Given the description of an element on the screen output the (x, y) to click on. 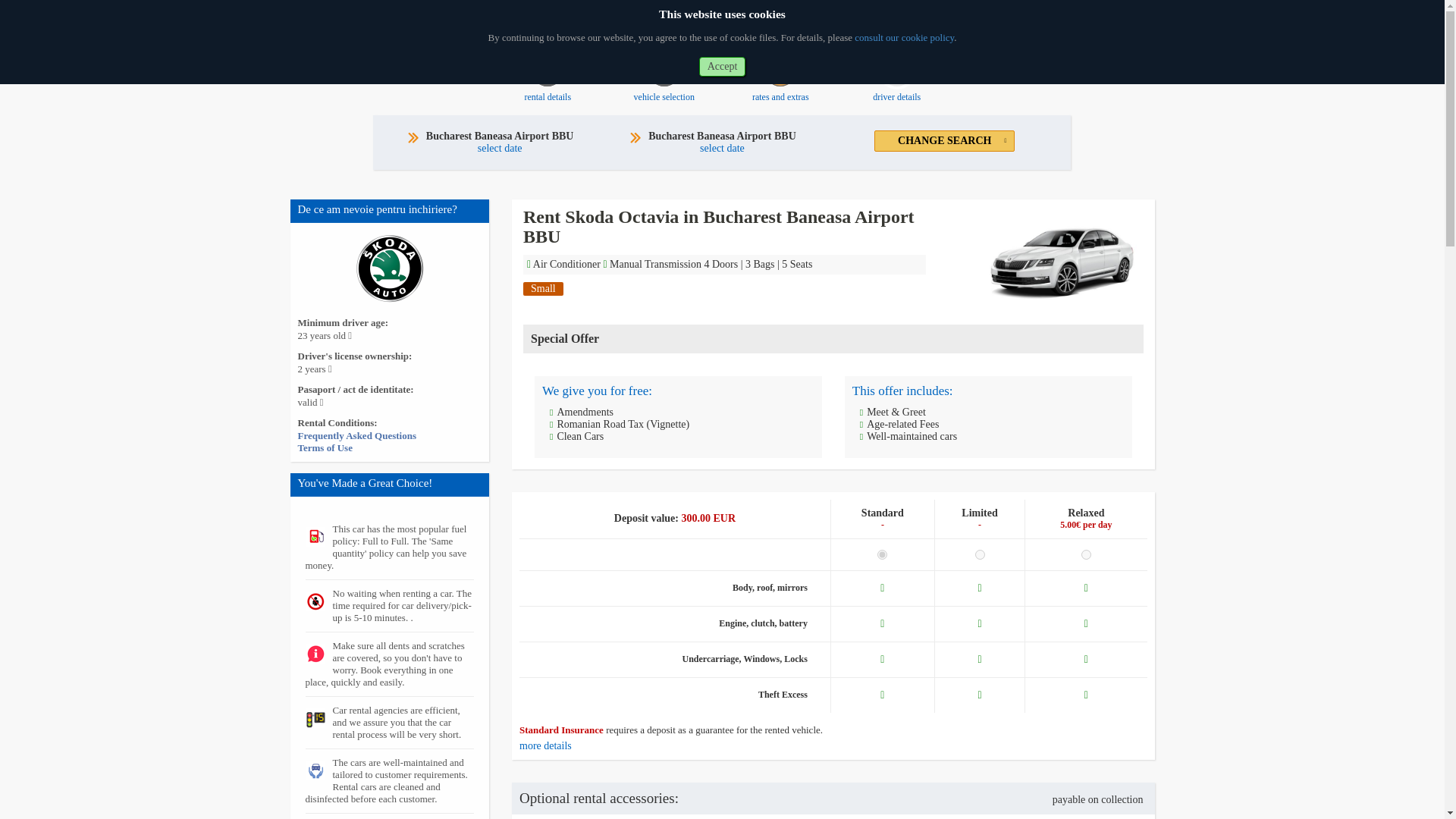
3 (1085, 554)
CHANGE SEARCH (547, 85)
1 (663, 85)
Frequently Asked Questions (944, 140)
Terms of Use (881, 554)
2 (356, 435)
